Given the description of an element on the screen output the (x, y) to click on. 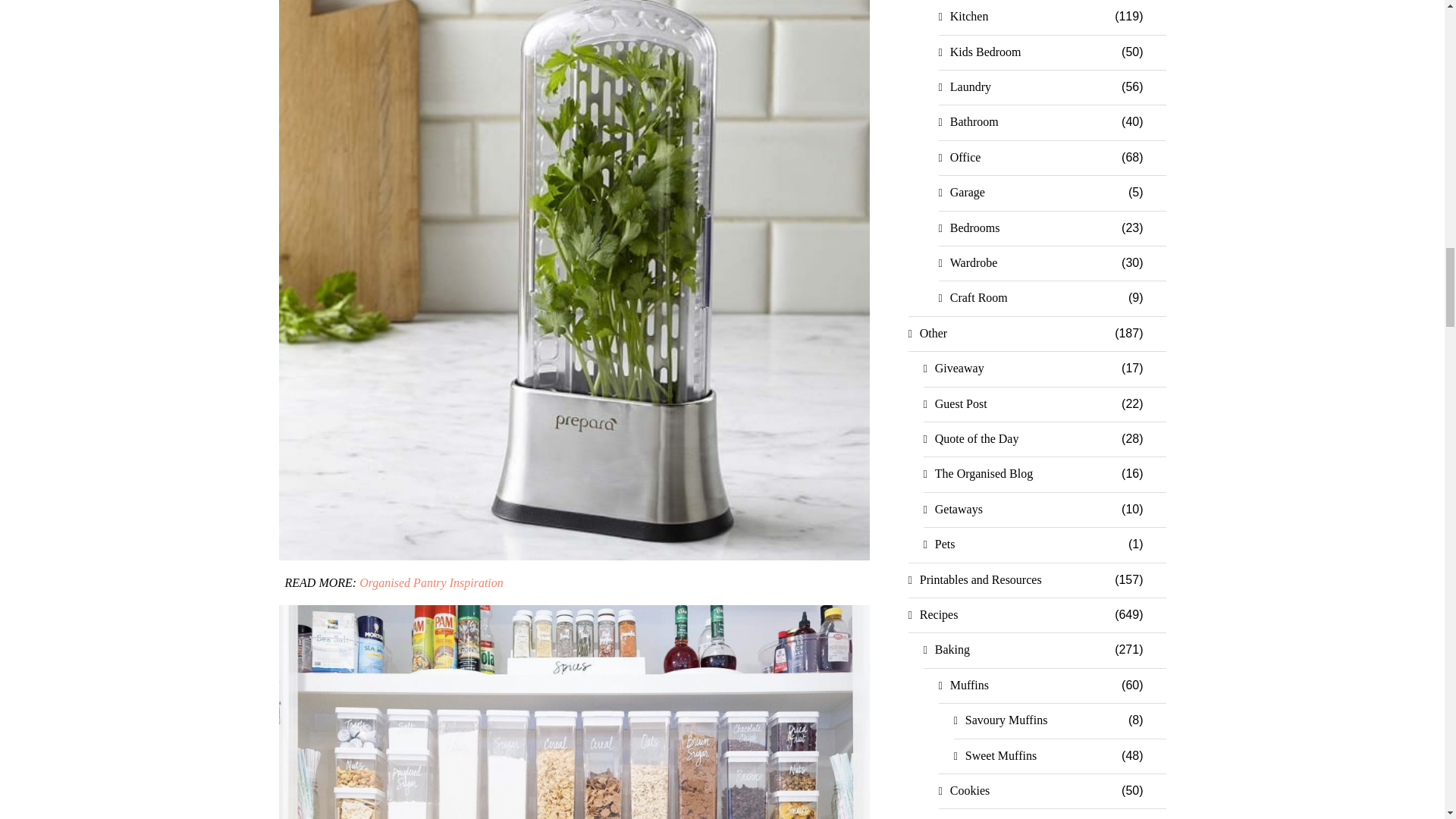
How to organise a kitchen pantry (574, 712)
